Given the description of an element on the screen output the (x, y) to click on. 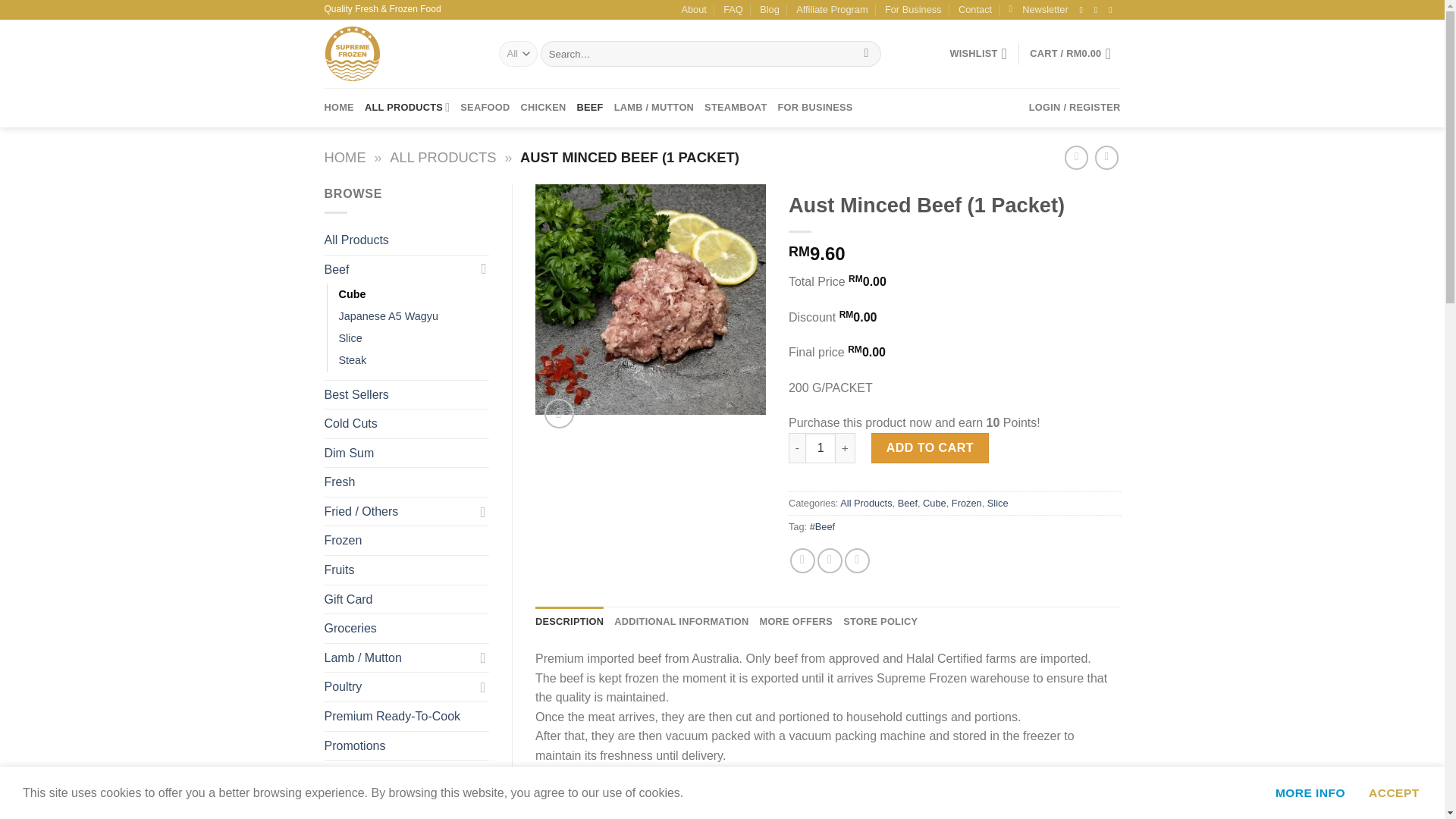
Share on Twitter (829, 560)
Contact (974, 9)
FAQ (732, 9)
About (693, 9)
Follow on Facebook (1084, 9)
Search (866, 53)
Cart (1074, 53)
Follow on Instagram (1098, 9)
Blog (769, 9)
HOME (338, 107)
For Business (913, 9)
Share on Facebook (802, 560)
Send us an email (1113, 9)
1 (820, 448)
WISHLIST (978, 53)
